Given the description of an element on the screen output the (x, y) to click on. 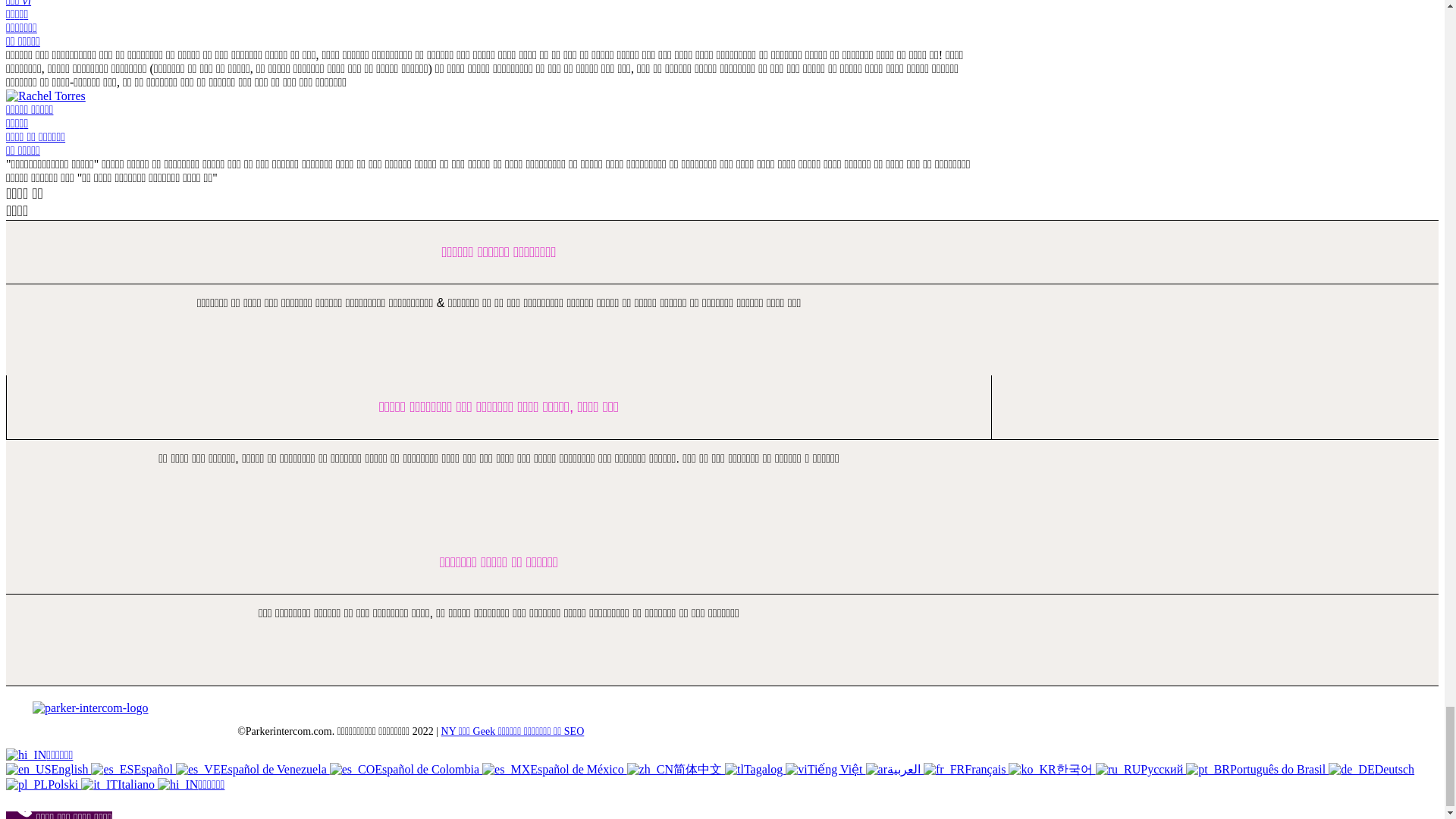
English (47, 768)
English (27, 769)
